Given the description of an element on the screen output the (x, y) to click on. 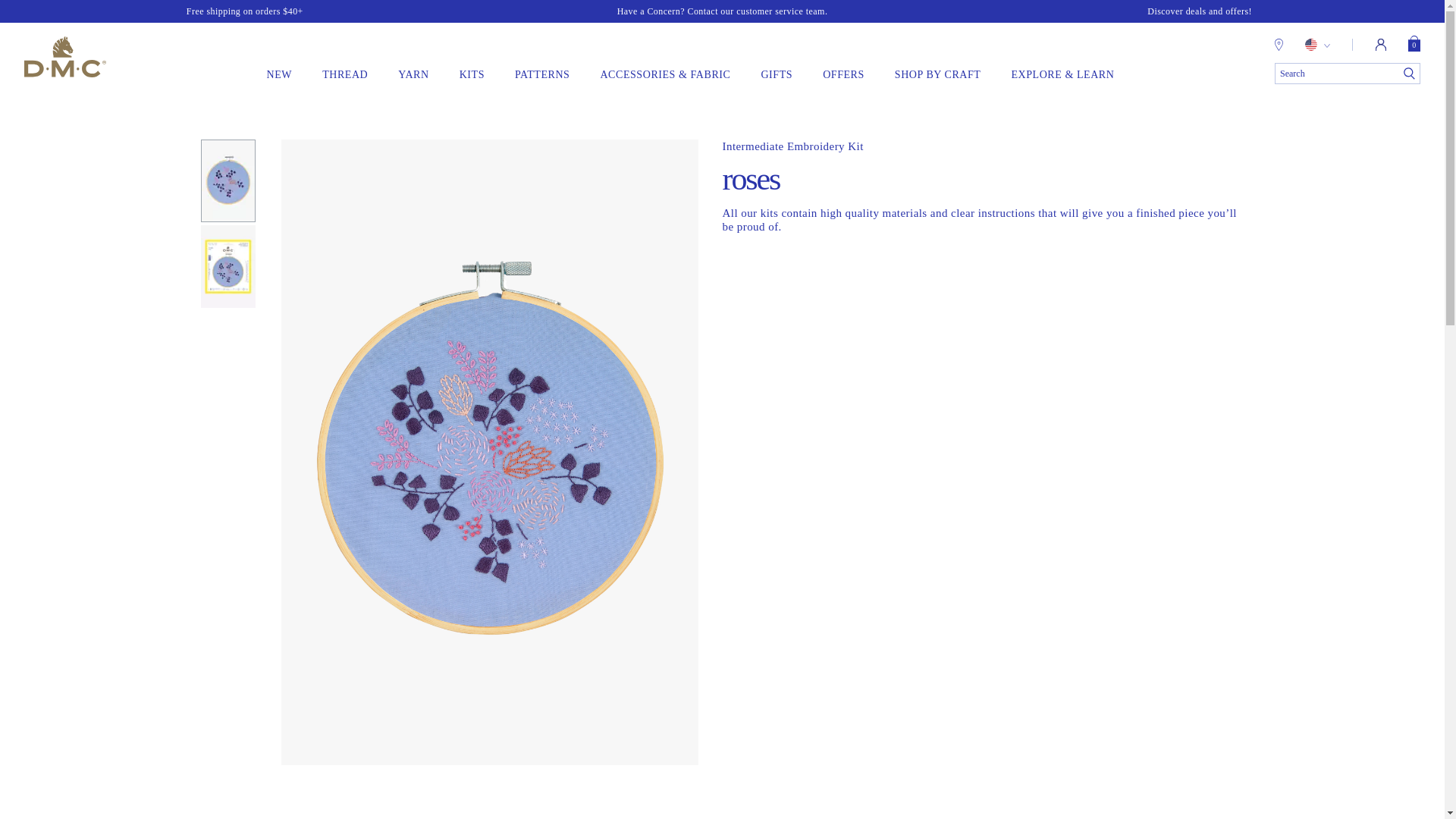
GIFTS (776, 74)
SHOP BY CRAFT (938, 74)
Search (1348, 73)
PATTERNS (542, 74)
NEW (279, 74)
THREAD (344, 74)
KITS (472, 74)
YARN (412, 74)
Discover deals and offers! (1199, 10)
OFFERS (843, 74)
0 (1414, 47)
Have a Concern? Contact our customer service team. (721, 10)
